Given the description of an element on the screen output the (x, y) to click on. 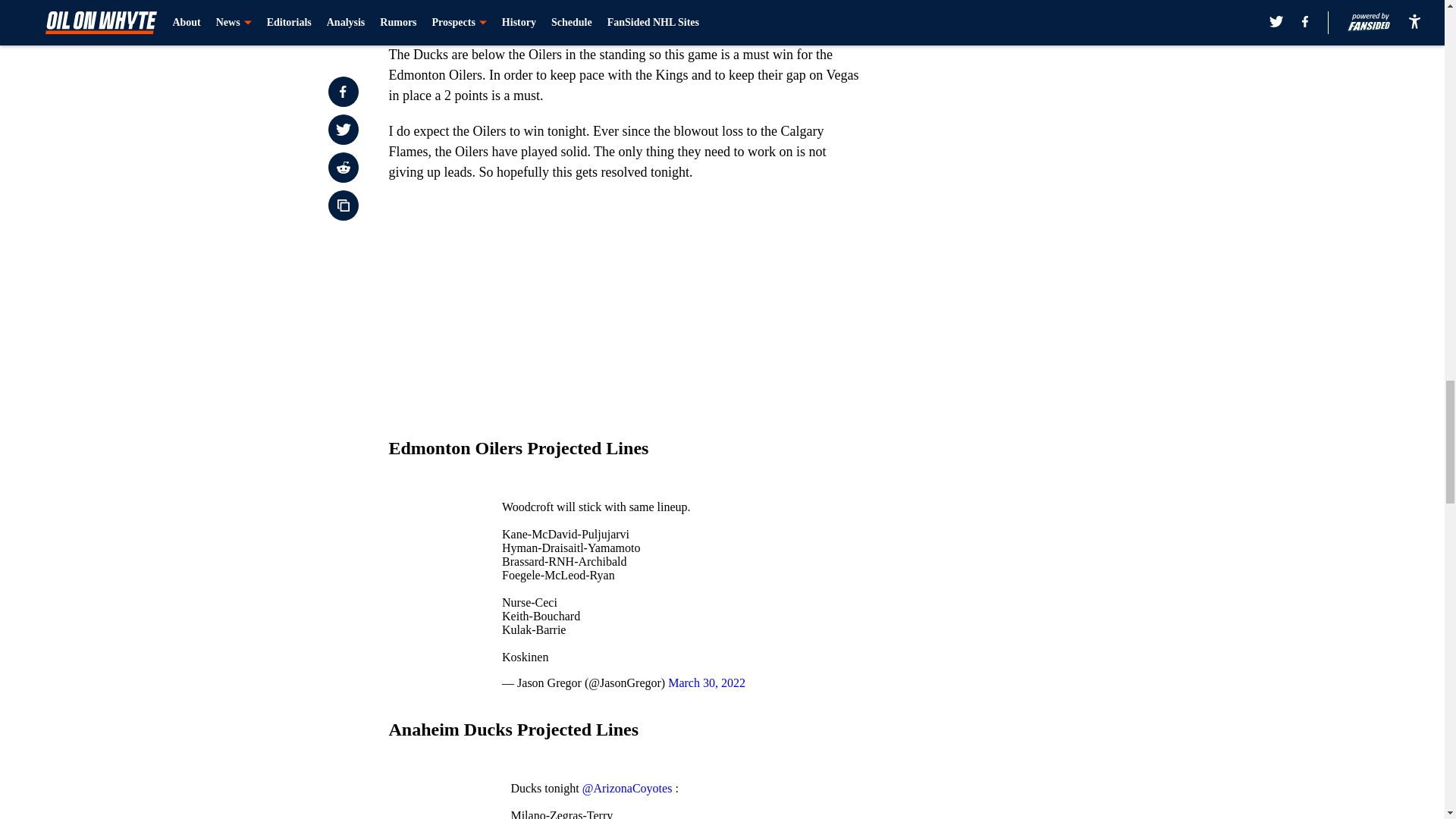
March 30, 2022 (706, 682)
